Given the description of an element on the screen output the (x, y) to click on. 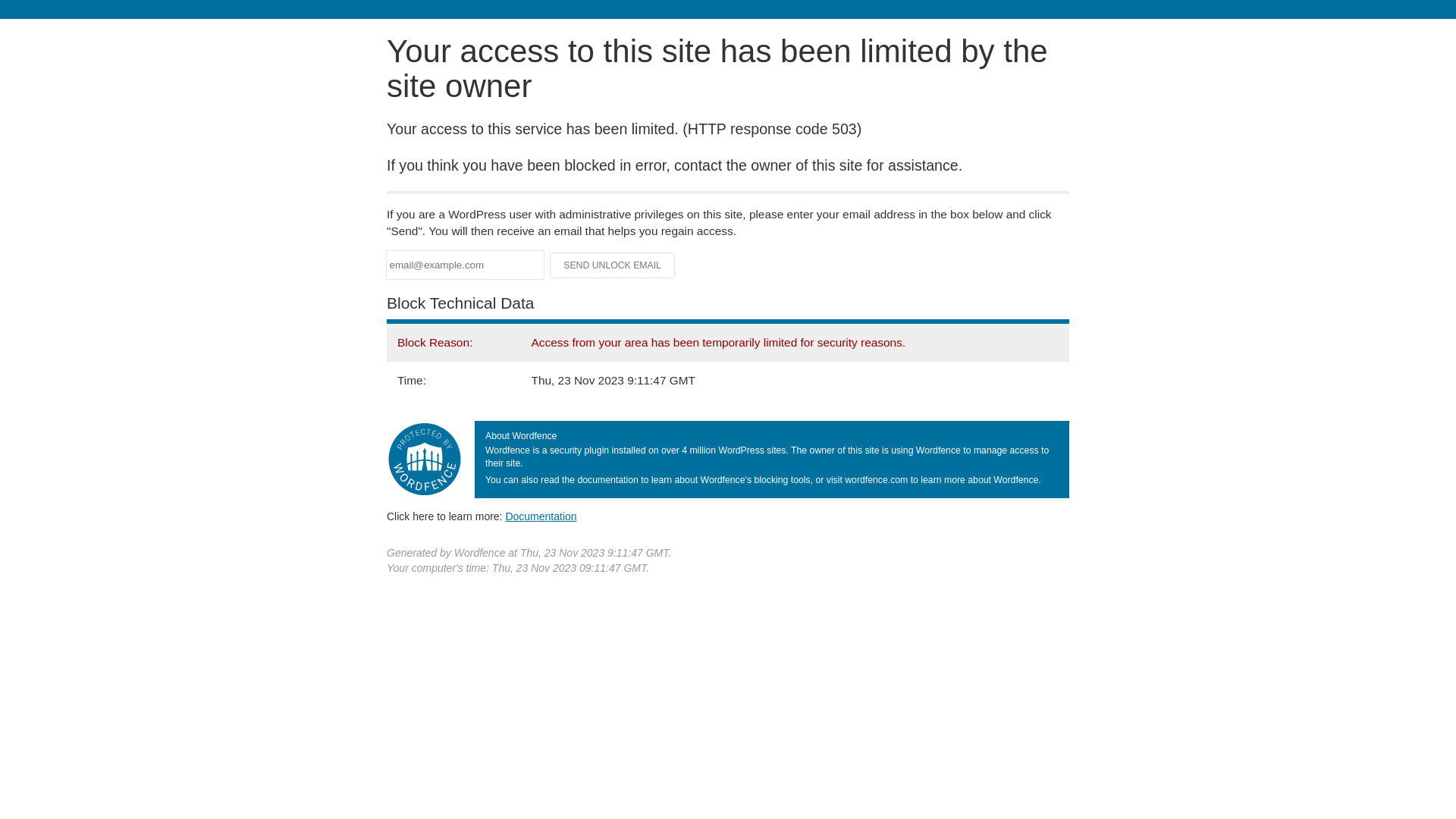
Documentation Element type: text (540, 516)
Send Unlock Email Element type: text (612, 265)
